Given the description of an element on the screen output the (x, y) to click on. 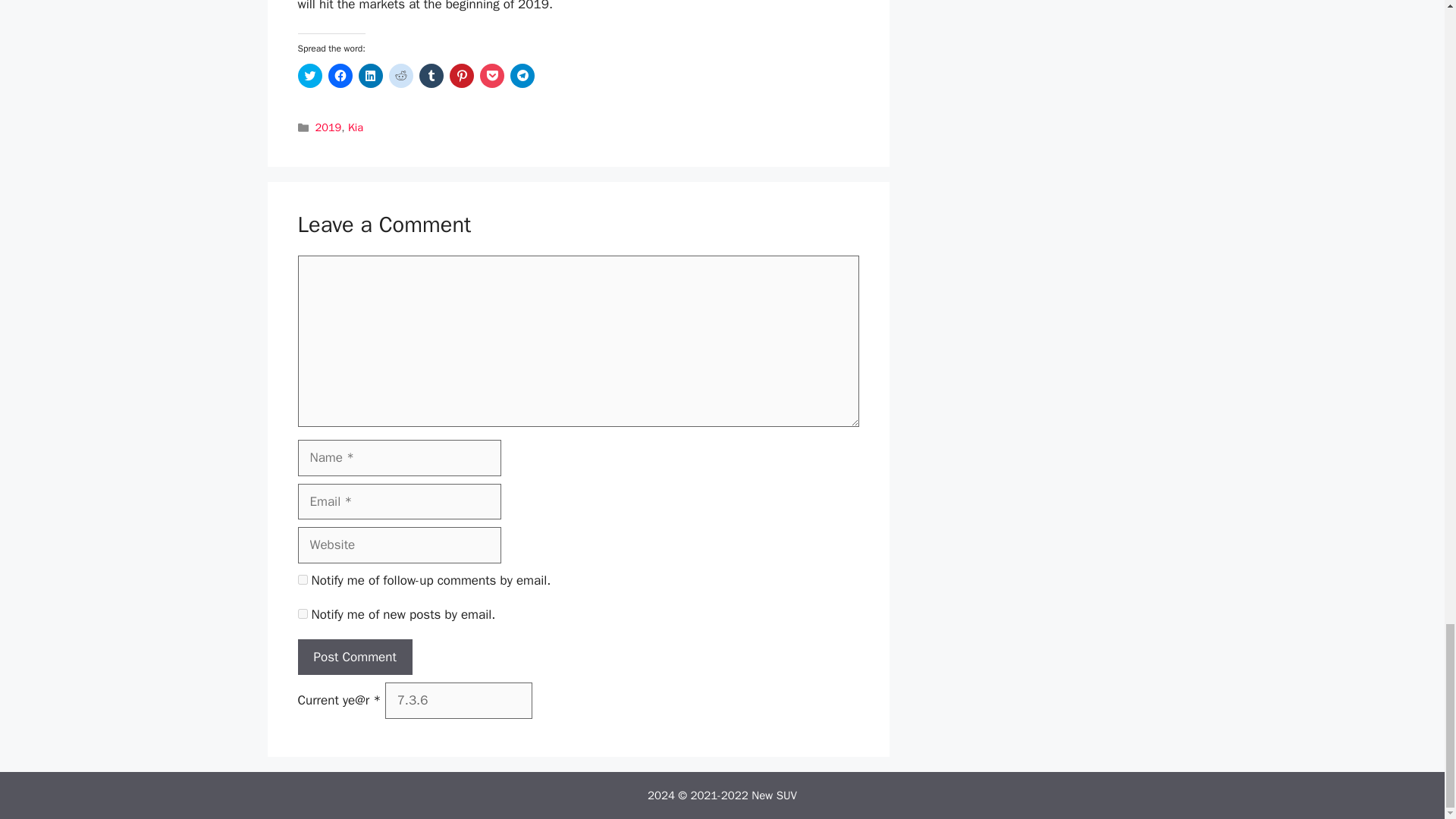
7.3.6 (458, 700)
Click to share on Telegram (521, 75)
Click to share on Pocket (491, 75)
Click to share on Tumblr (430, 75)
subscribe (302, 614)
Post Comment (354, 657)
Click to share on Reddit (400, 75)
Kia (354, 127)
Click to share on LinkedIn (369, 75)
Click to share on Pinterest (460, 75)
